Given the description of an element on the screen output the (x, y) to click on. 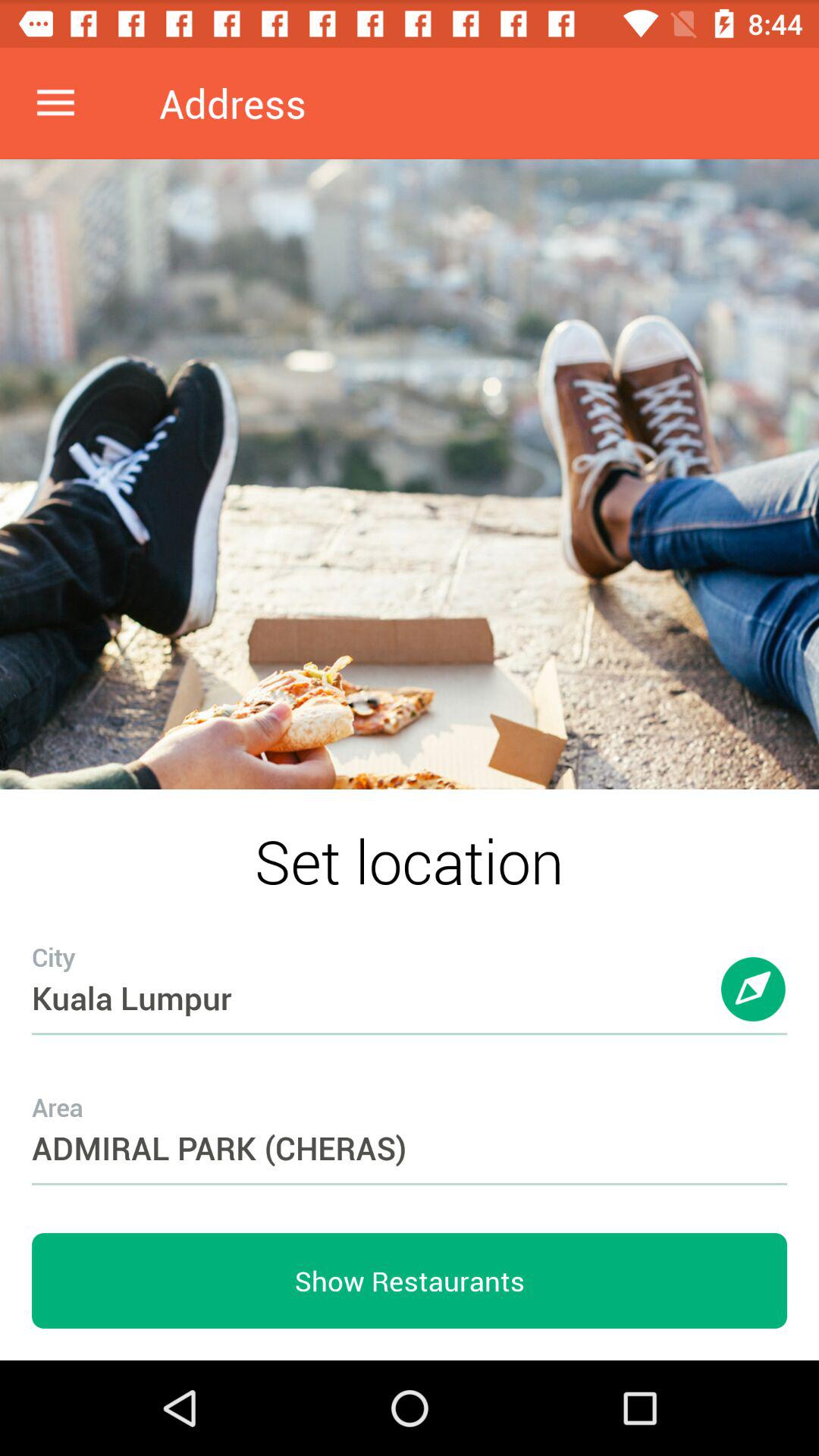
turn on the icon above the show restaurants item (409, 1118)
